Given the description of an element on the screen output the (x, y) to click on. 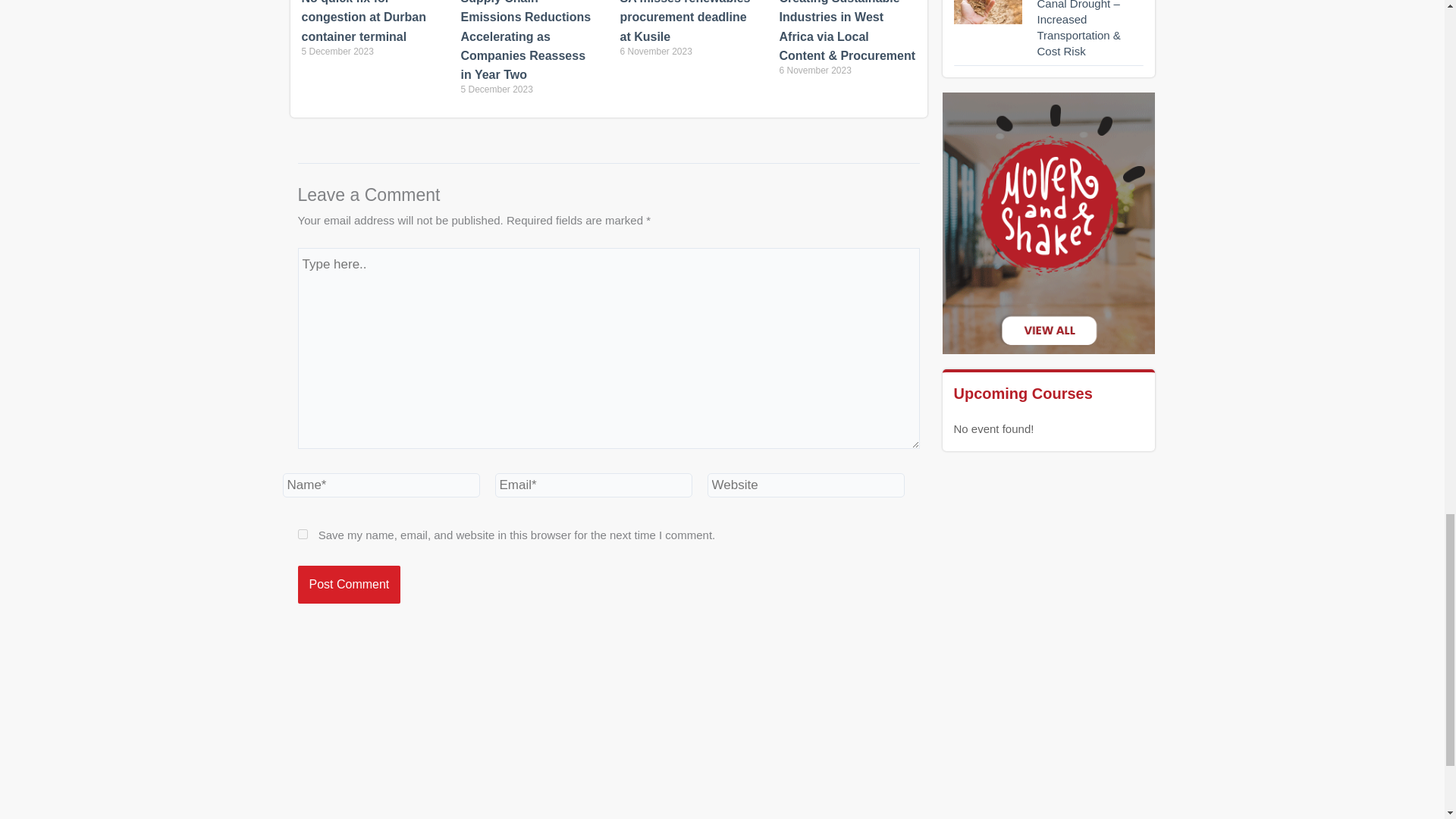
Post Comment (348, 584)
yes (302, 533)
